Given the description of an element on the screen output the (x, y) to click on. 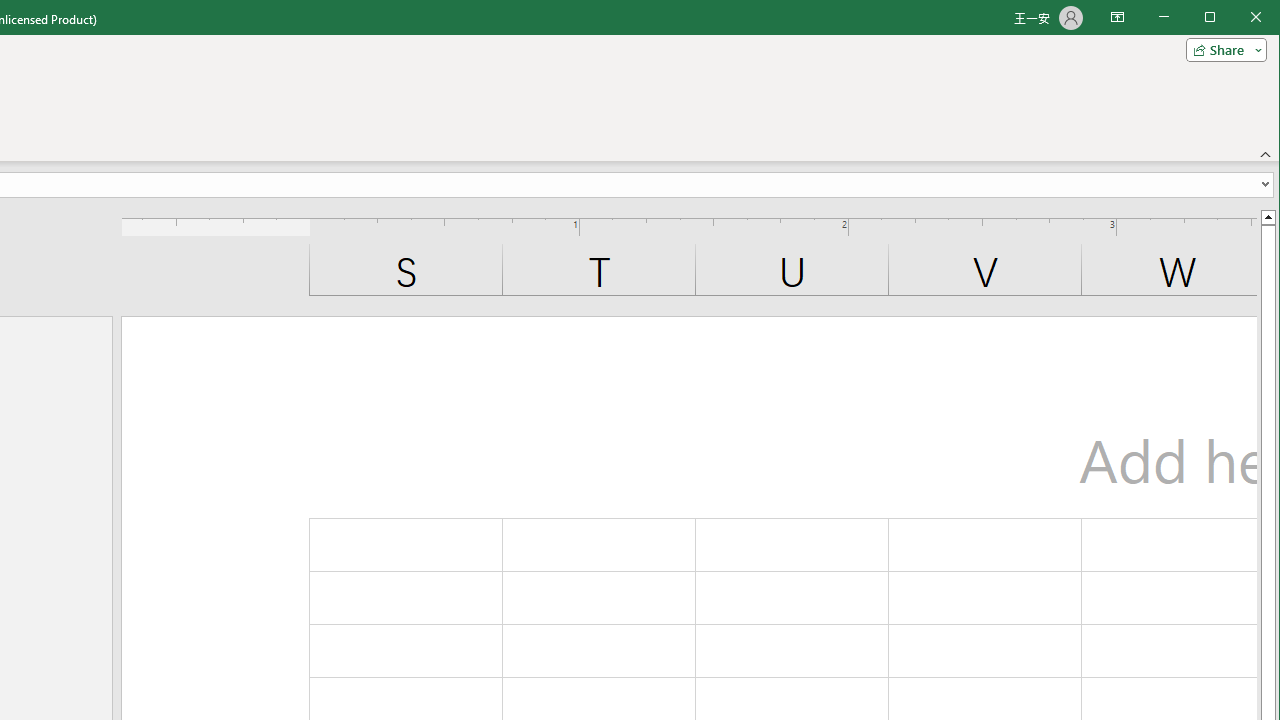
Maximize (1238, 18)
Ribbon Display Options (1117, 17)
Collapse the Ribbon (1266, 154)
Share (1222, 49)
Minimize (1216, 18)
Line up (1268, 216)
